Given the description of an element on the screen output the (x, y) to click on. 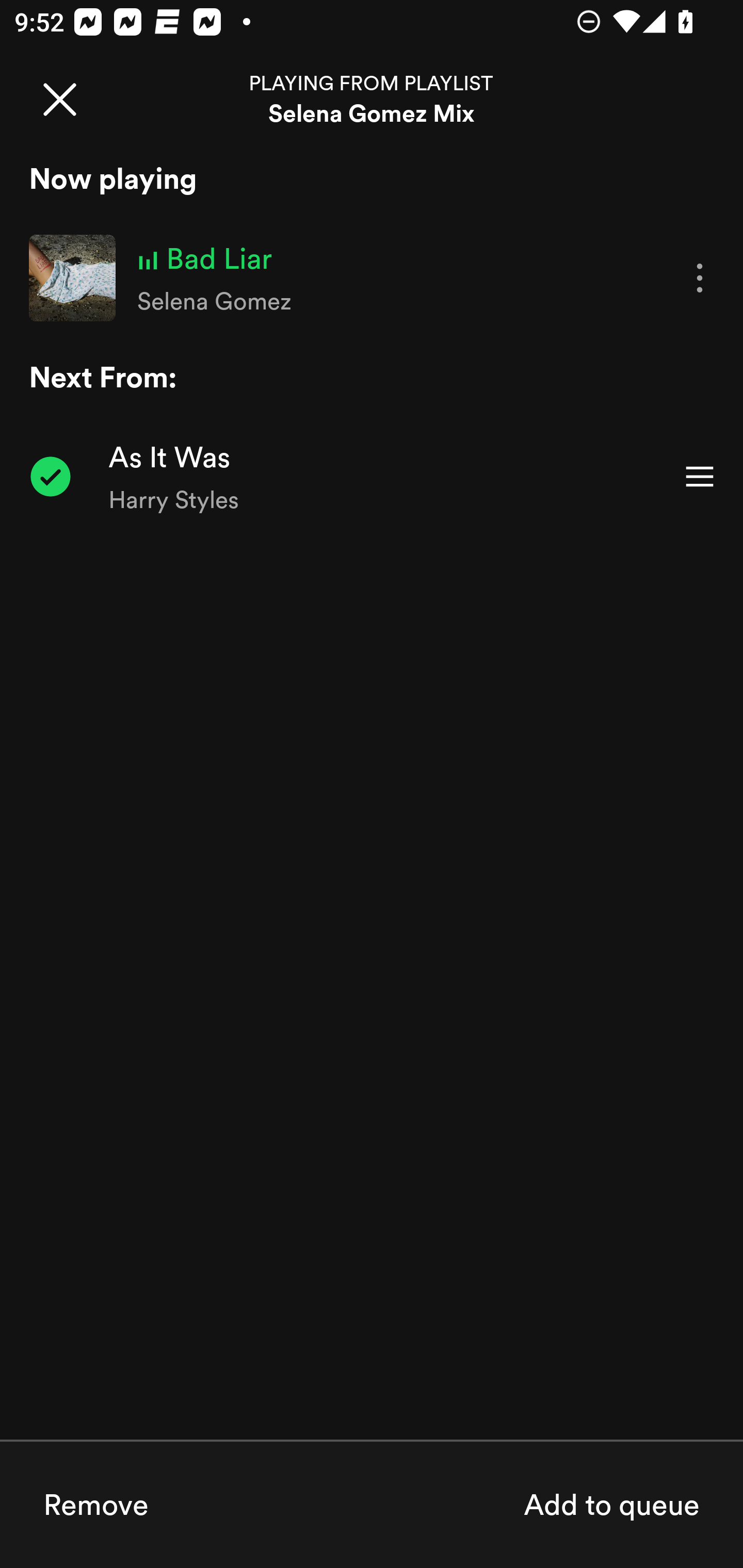
Close (59, 99)
PLAYING FROM PLAYLIST Selena Gomez Mix (371, 99)
More options for song Bad Liar (699, 278)
As It Was Harry Styles Reorder track (371, 476)
Remove (95, 1504)
Add to queue (611, 1504)
